Given the description of an element on the screen output the (x, y) to click on. 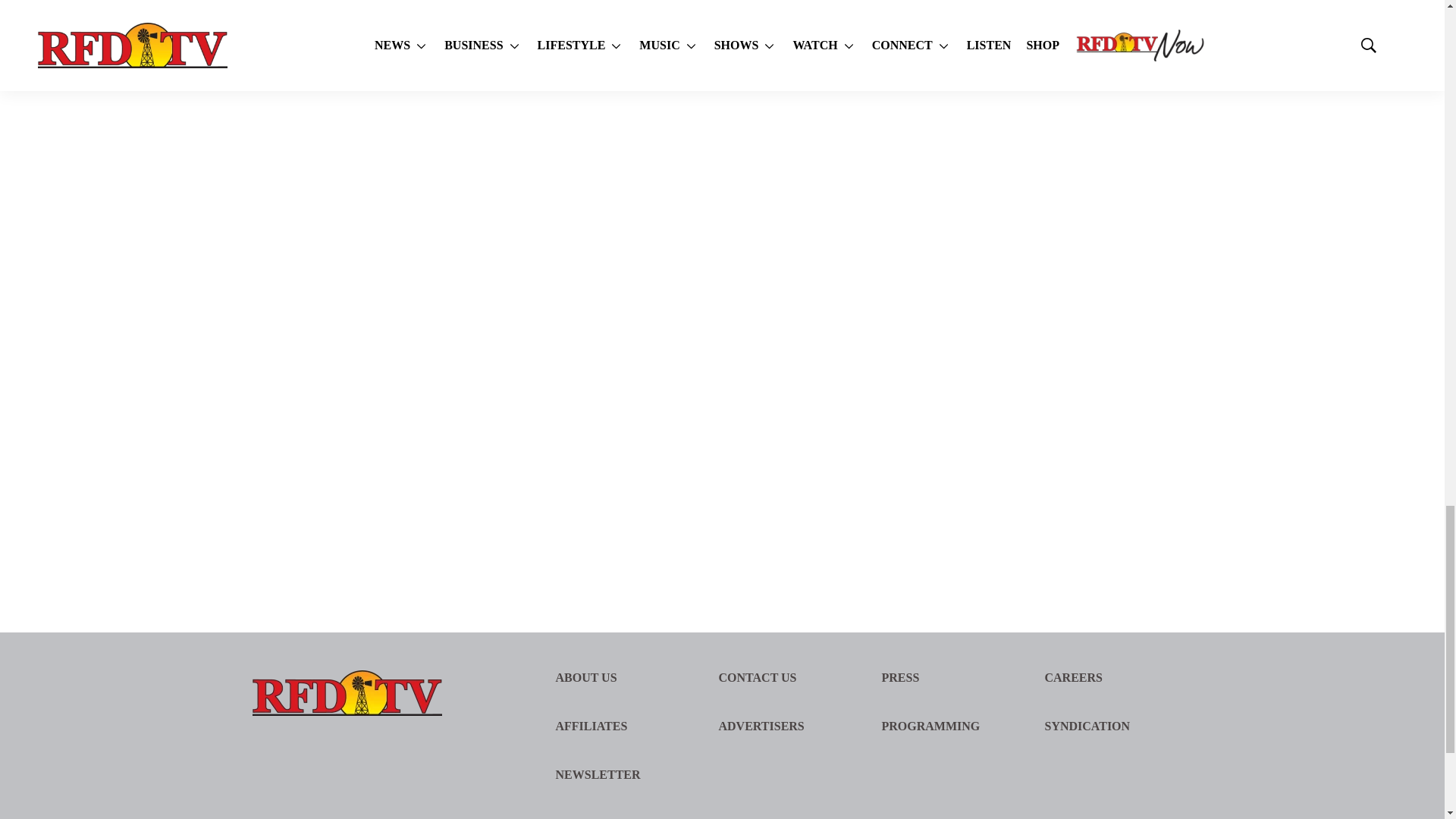
Signup Widget Embed (1070, 263)
